Given the description of an element on the screen output the (x, y) to click on. 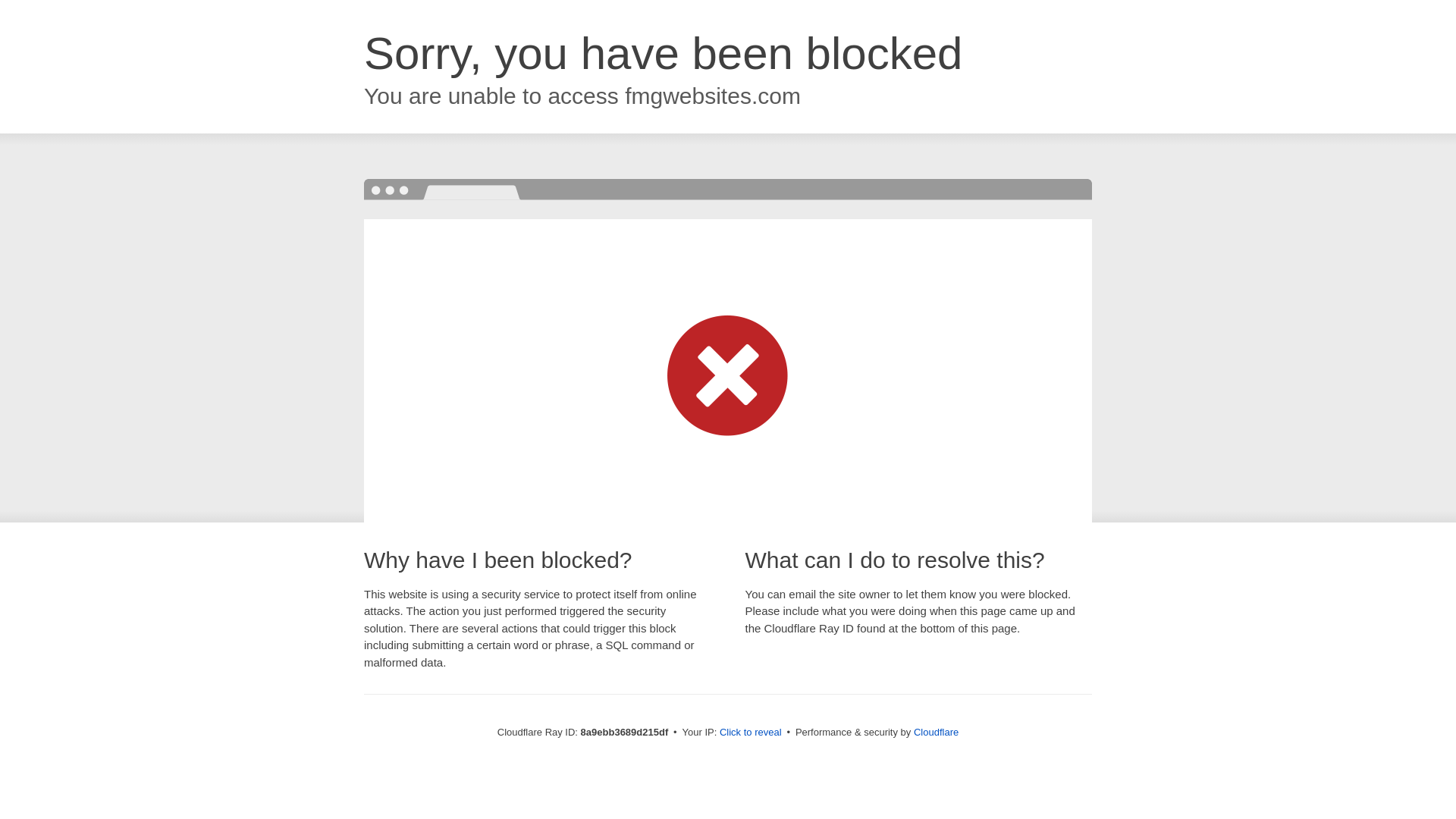
Cloudflare (936, 731)
Click to reveal (750, 732)
